Given the description of an element on the screen output the (x, y) to click on. 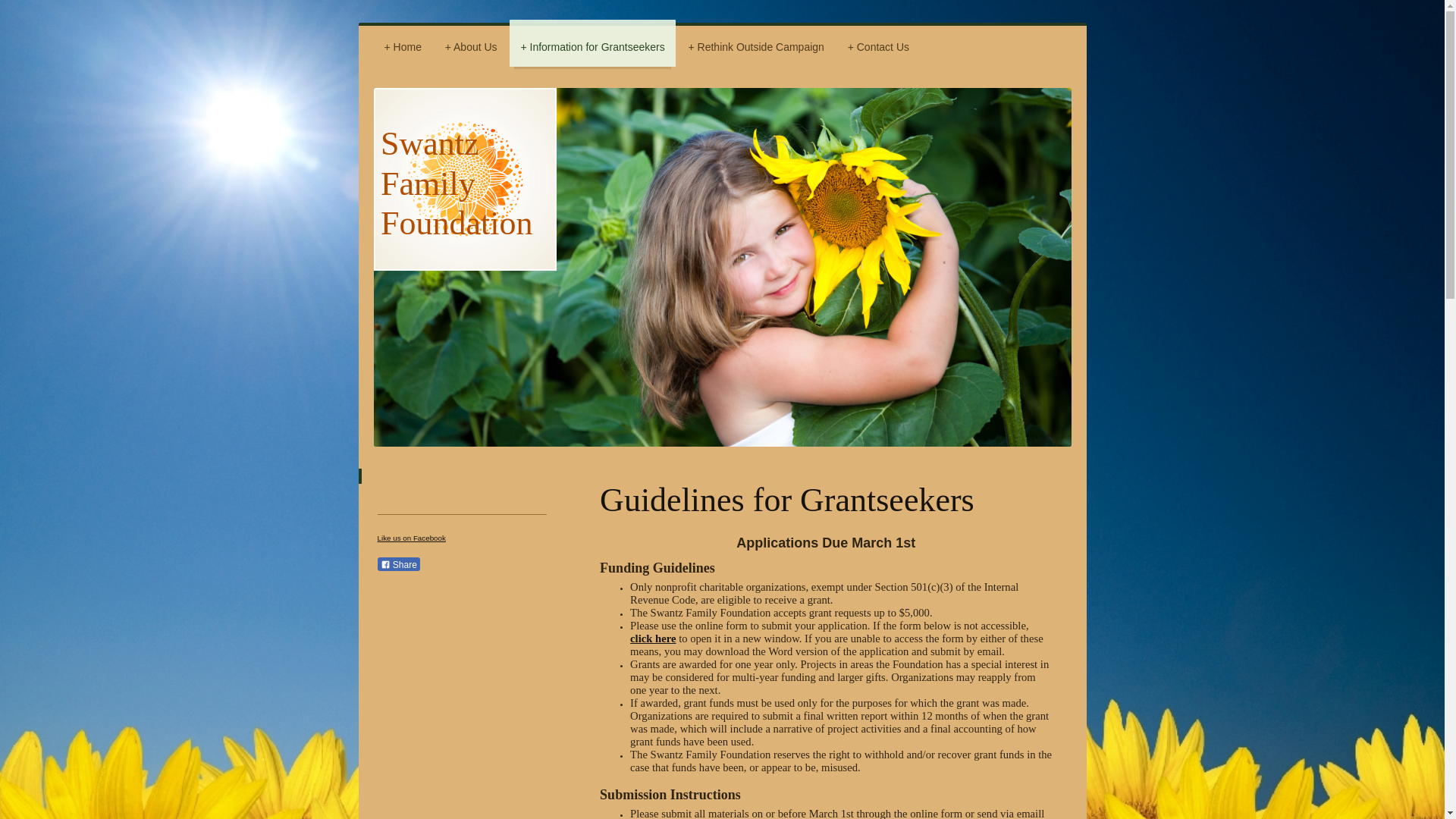
Home (401, 42)
Share (398, 563)
click here (652, 638)
About Us (470, 42)
Rethink Outside Campaign (755, 42)
Like us on Facebook (411, 537)
Contact Us (878, 42)
Swantz Family Foundation (456, 182)
Information for Grantseekers (592, 42)
